Given the description of an element on the screen output the (x, y) to click on. 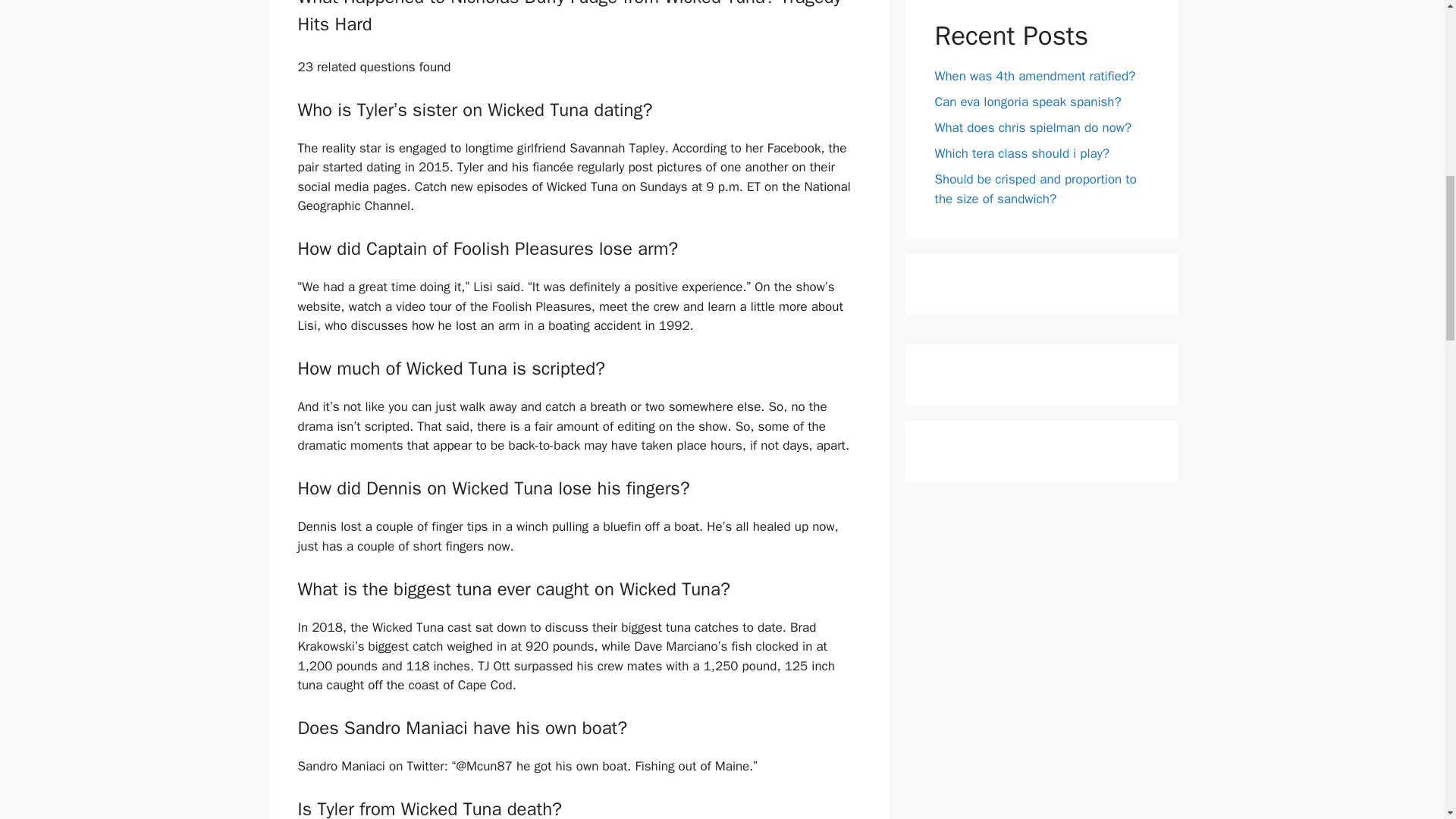
Can eva longoria speak spanish? (1027, 101)
When was 4th amendment ratified? (1034, 75)
Should be crisped and proportion to the size of sandwich? (1034, 189)
Which tera class should i play? (1021, 153)
What does chris spielman do now? (1032, 127)
